Given the description of an element on the screen output the (x, y) to click on. 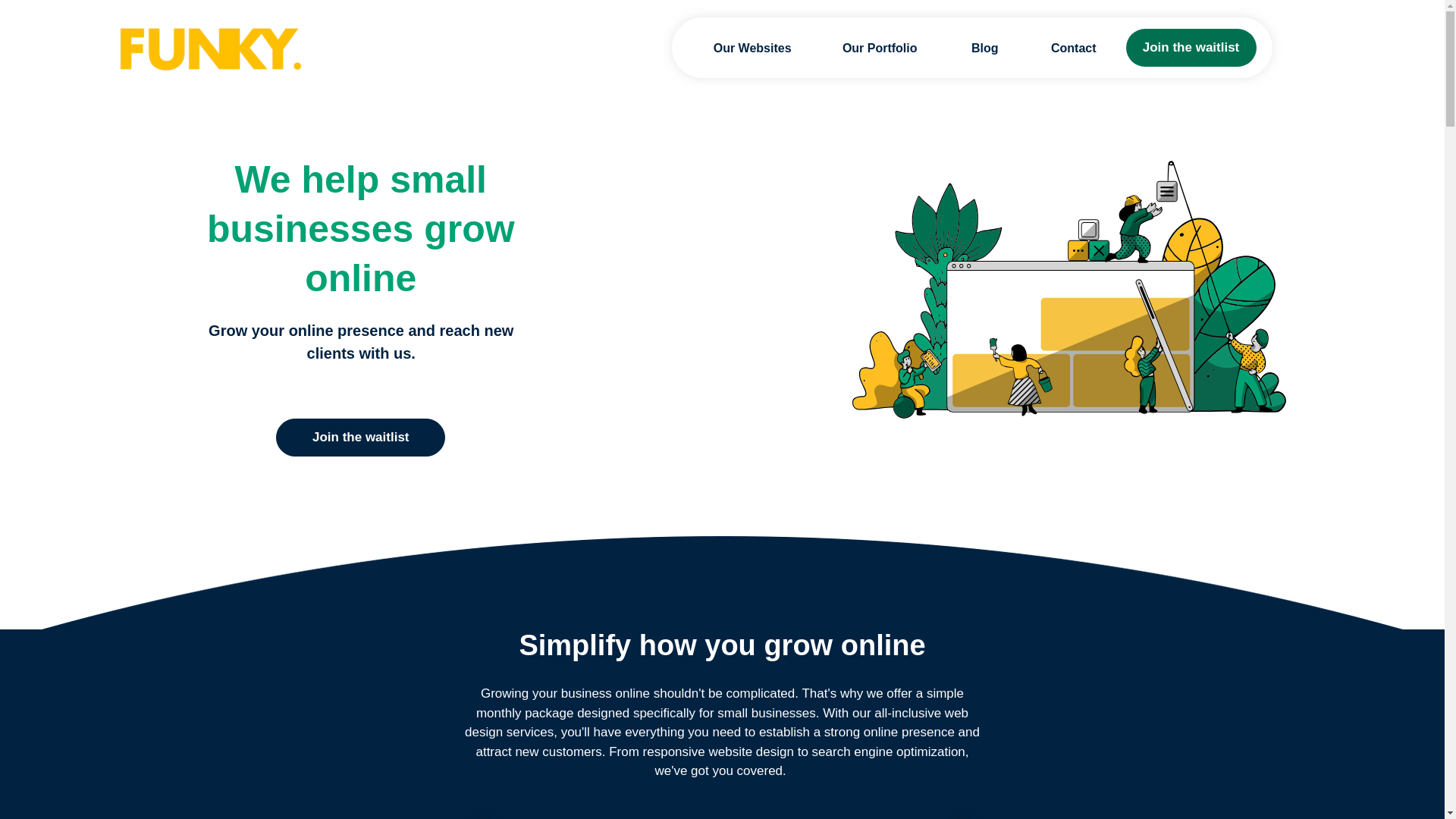
Our Portfolio (865, 48)
Join the waitlist (360, 437)
Our Websites (738, 48)
Join the waitlist (1190, 47)
Blog (969, 48)
Contact (1059, 48)
